Given the description of an element on the screen output the (x, y) to click on. 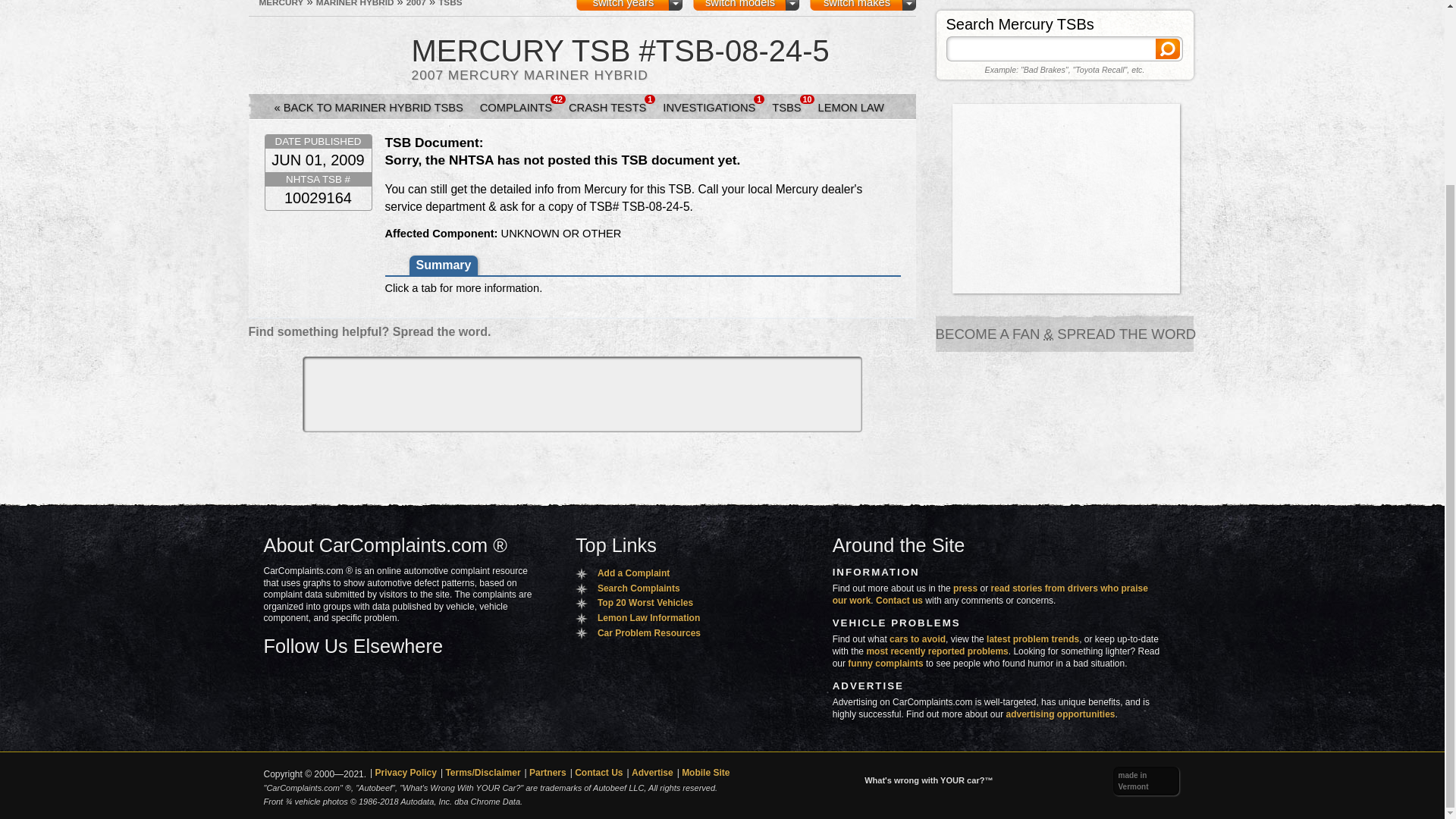
MARINER HYBRID (354, 3)
2007 (416, 3)
MERCURY (281, 3)
switch makes (862, 5)
TSBS (449, 3)
